Given the description of an element on the screen output the (x, y) to click on. 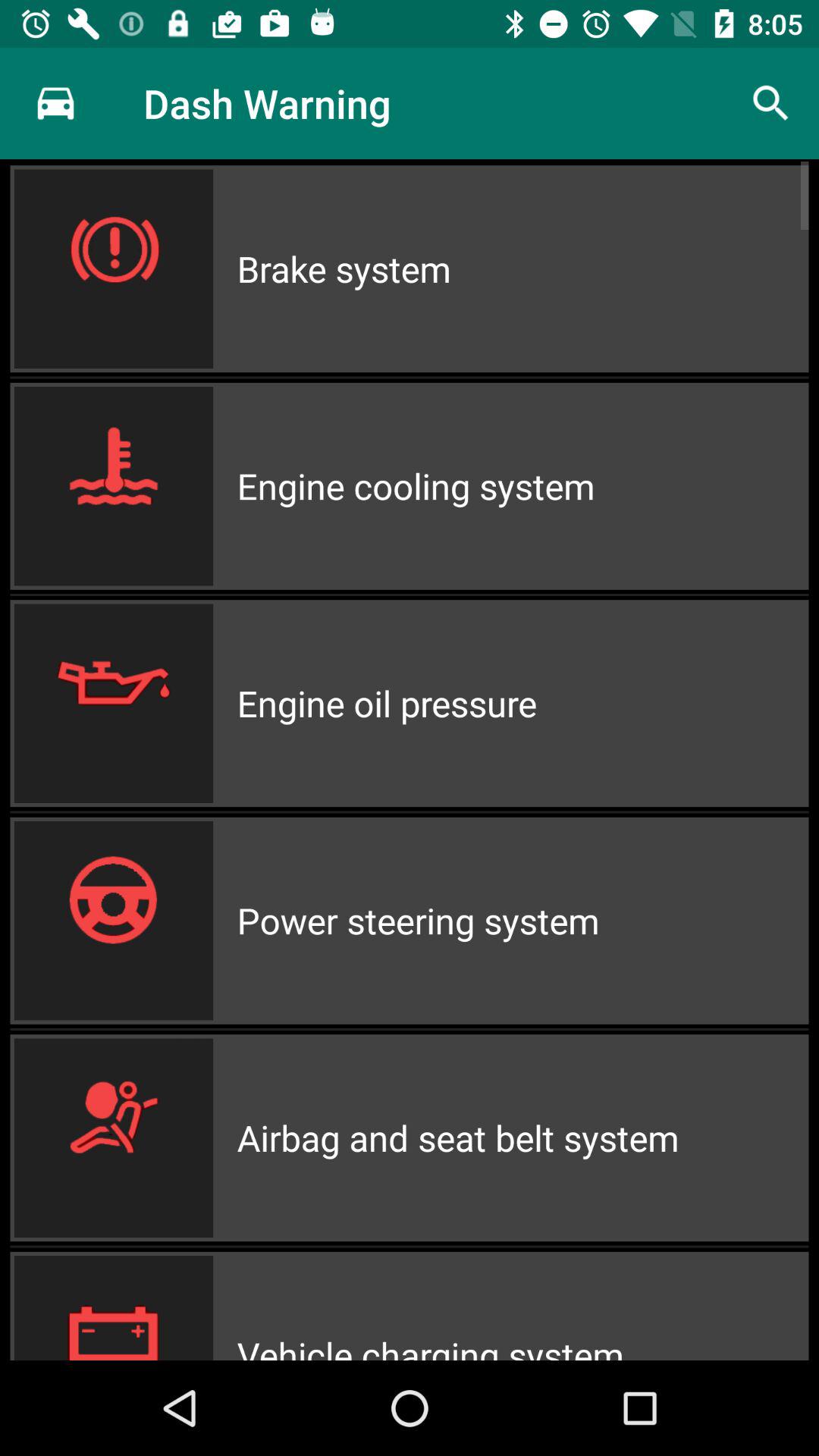
press brake system icon (522, 268)
